Given the description of an element on the screen output the (x, y) to click on. 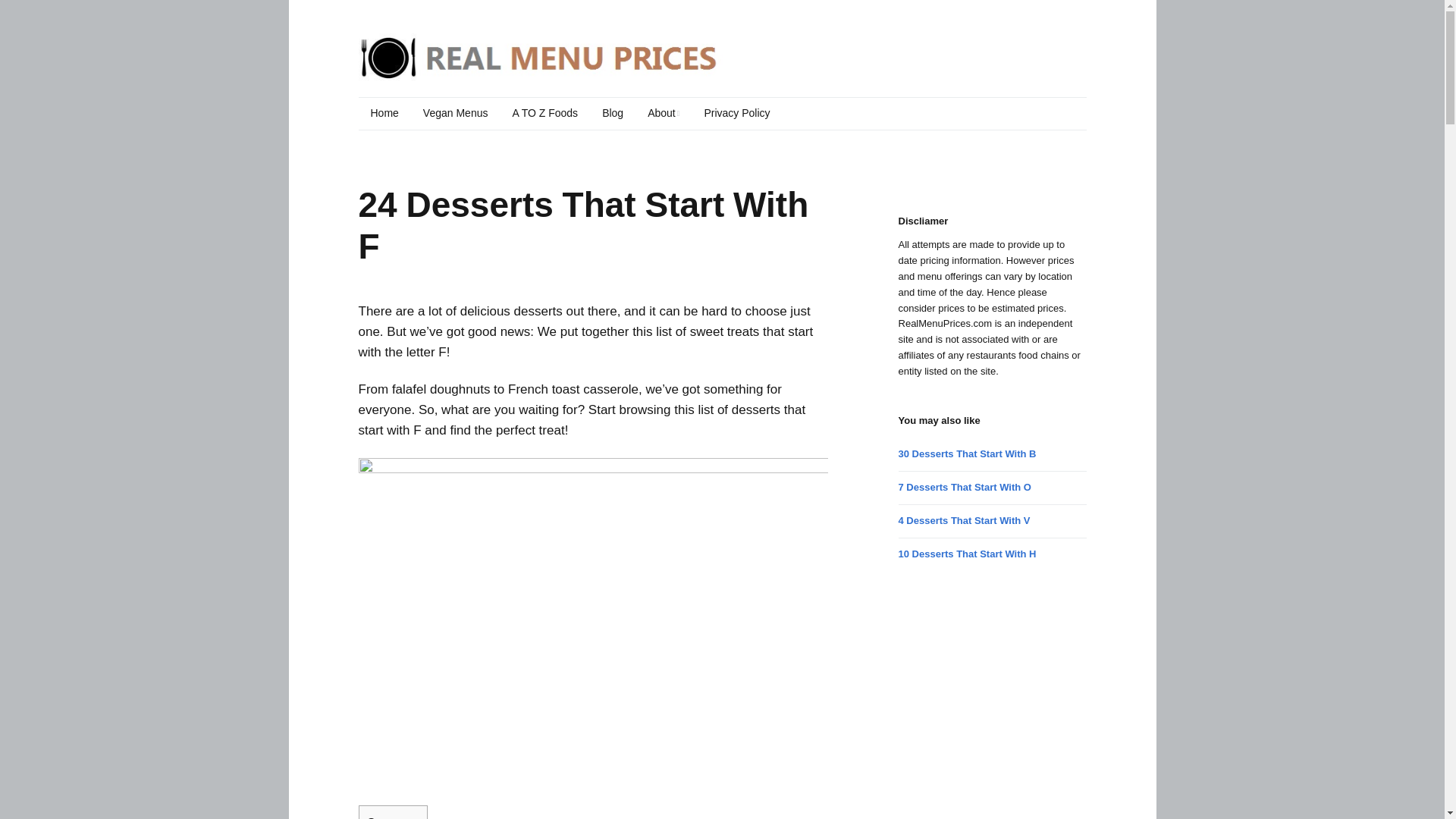
About (662, 113)
Home (384, 113)
30 Desserts That Start With B (967, 453)
Blog (611, 113)
10 Desserts That Start With H (967, 553)
7 Desserts That Start With O (964, 487)
A TO Z Foods (544, 113)
Vegan Menus (455, 113)
Privacy Policy (736, 113)
4 Desserts That Start With V (964, 520)
